Given the description of an element on the screen output the (x, y) to click on. 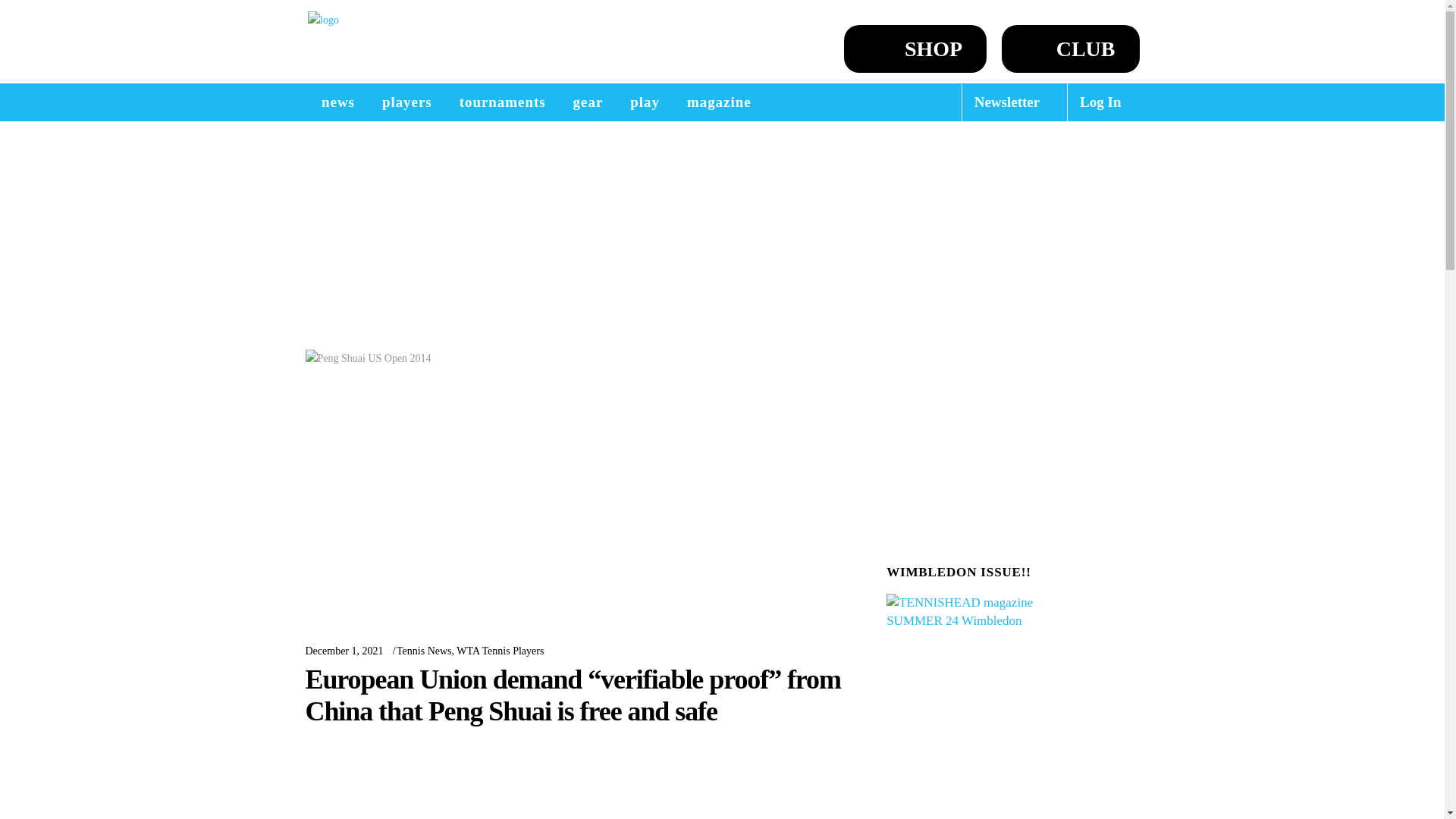
news (337, 102)
tournaments (502, 102)
play (643, 102)
gear (588, 102)
players (406, 102)
CLUB (1070, 48)
SHOP (915, 48)
